Given the description of an element on the screen output the (x, y) to click on. 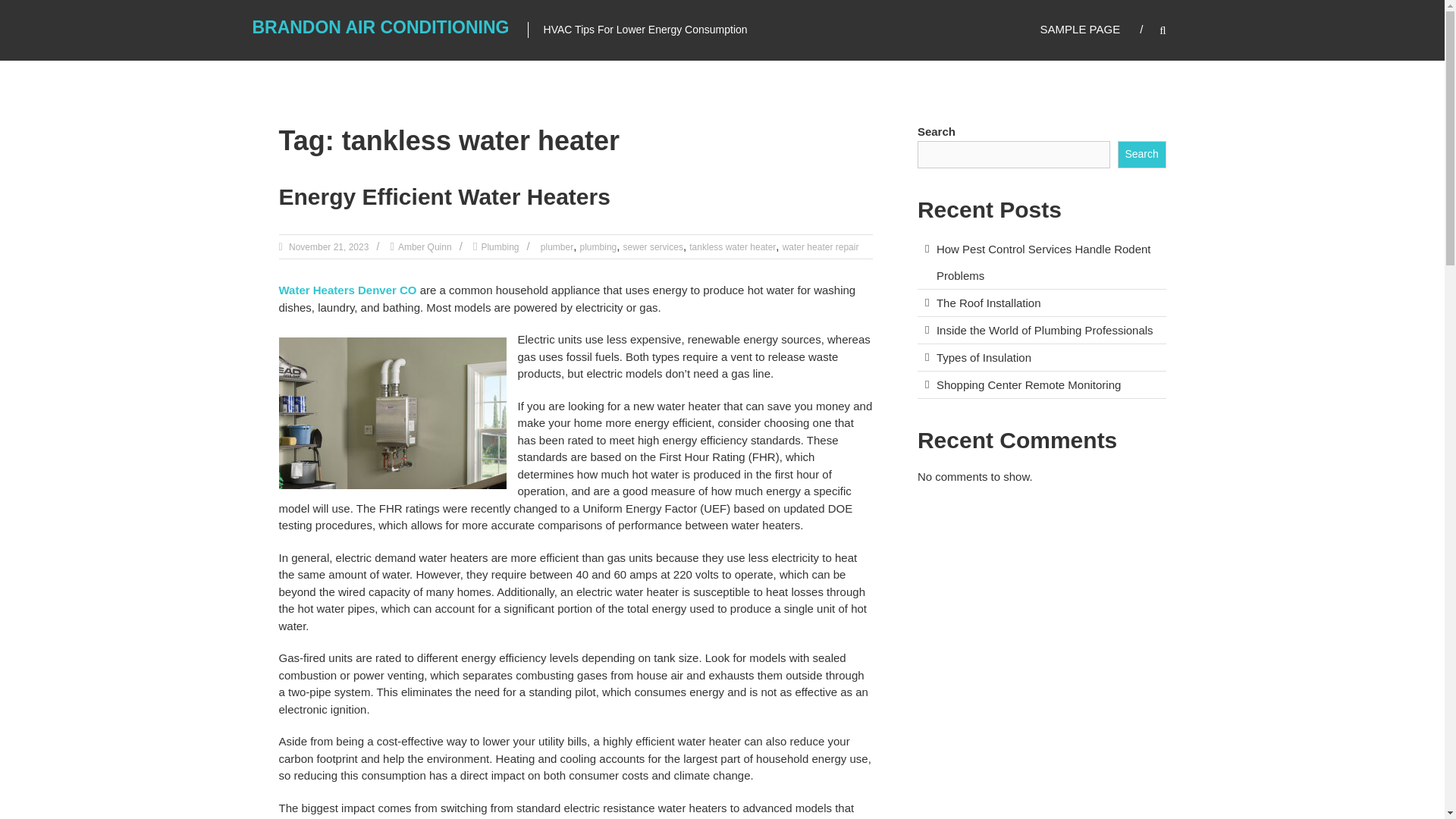
The Roof Installation (988, 302)
BRANDON AIR CONDITIONING (379, 26)
Shopping Center Remote Monitoring (1028, 384)
water heater repair (821, 246)
Types of Insulation (983, 357)
5:29 am (327, 246)
Search (1142, 154)
SAMPLE PAGE (1081, 29)
Inside the World of Plumbing Professionals (1044, 329)
Amber Quinn (424, 246)
Brandon Air Conditioning (379, 26)
November 21, 2023 (327, 246)
Energy Efficient Water Heaters (444, 196)
Energy Efficient Water Heaters (444, 196)
How Pest Control Services Handle Rodent Problems (1043, 261)
